Given the description of an element on the screen output the (x, y) to click on. 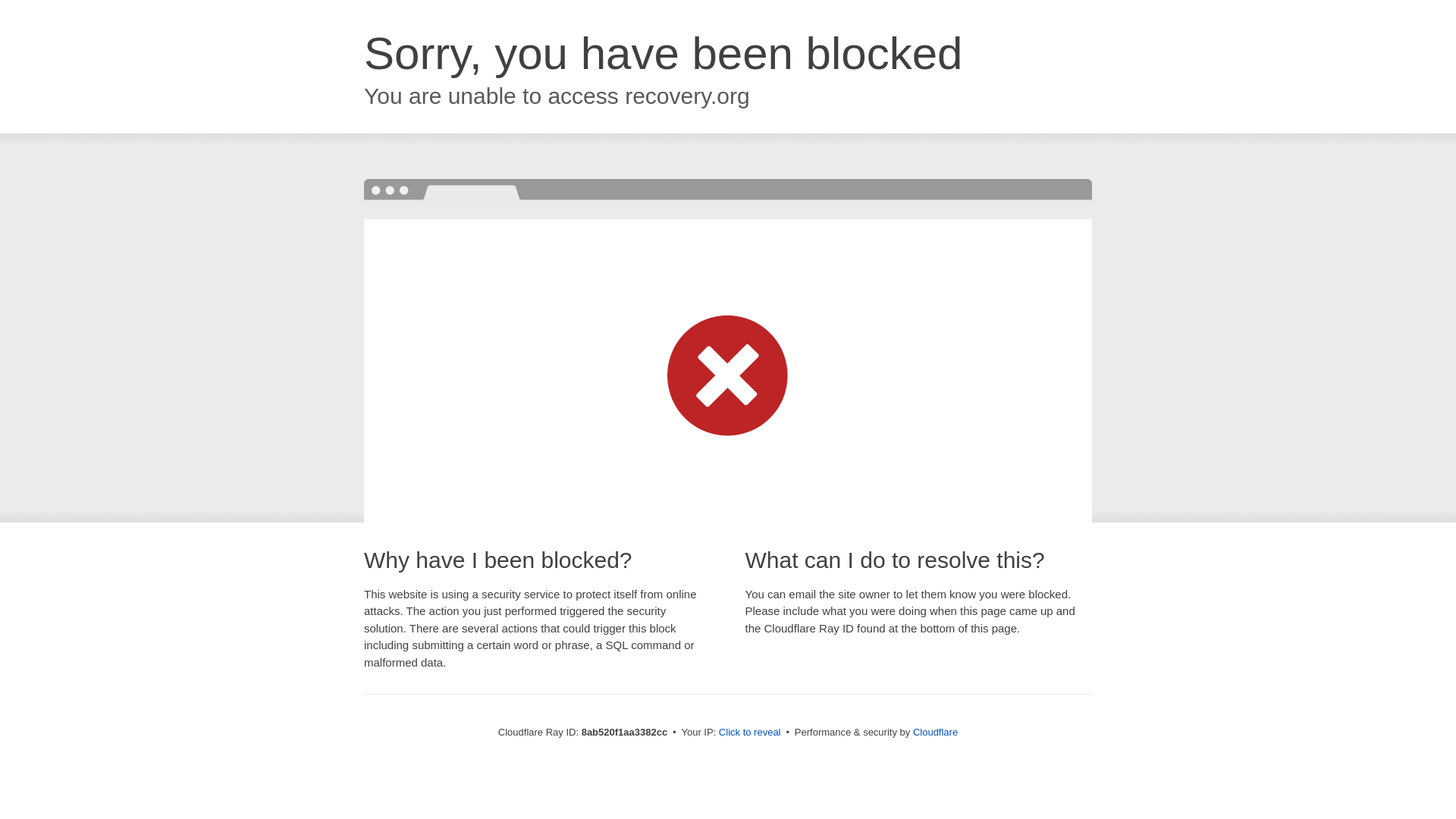
Cloudflare (935, 731)
Click to reveal (749, 732)
